Given the description of an element on the screen output the (x, y) to click on. 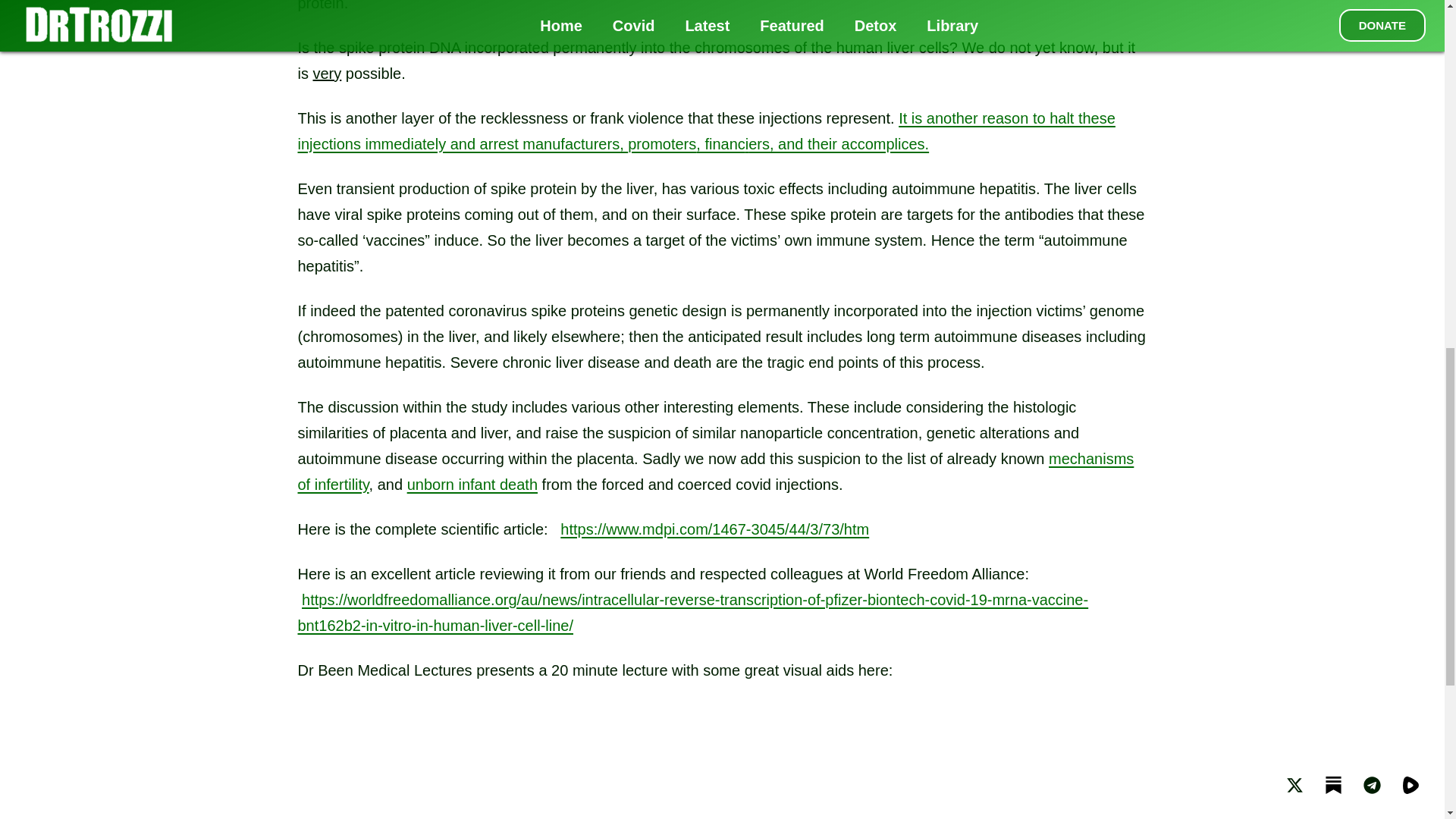
YouTube video player (722, 768)
unborn infant death (472, 484)
mechanisms of infertility (715, 471)
